Given the description of an element on the screen output the (x, y) to click on. 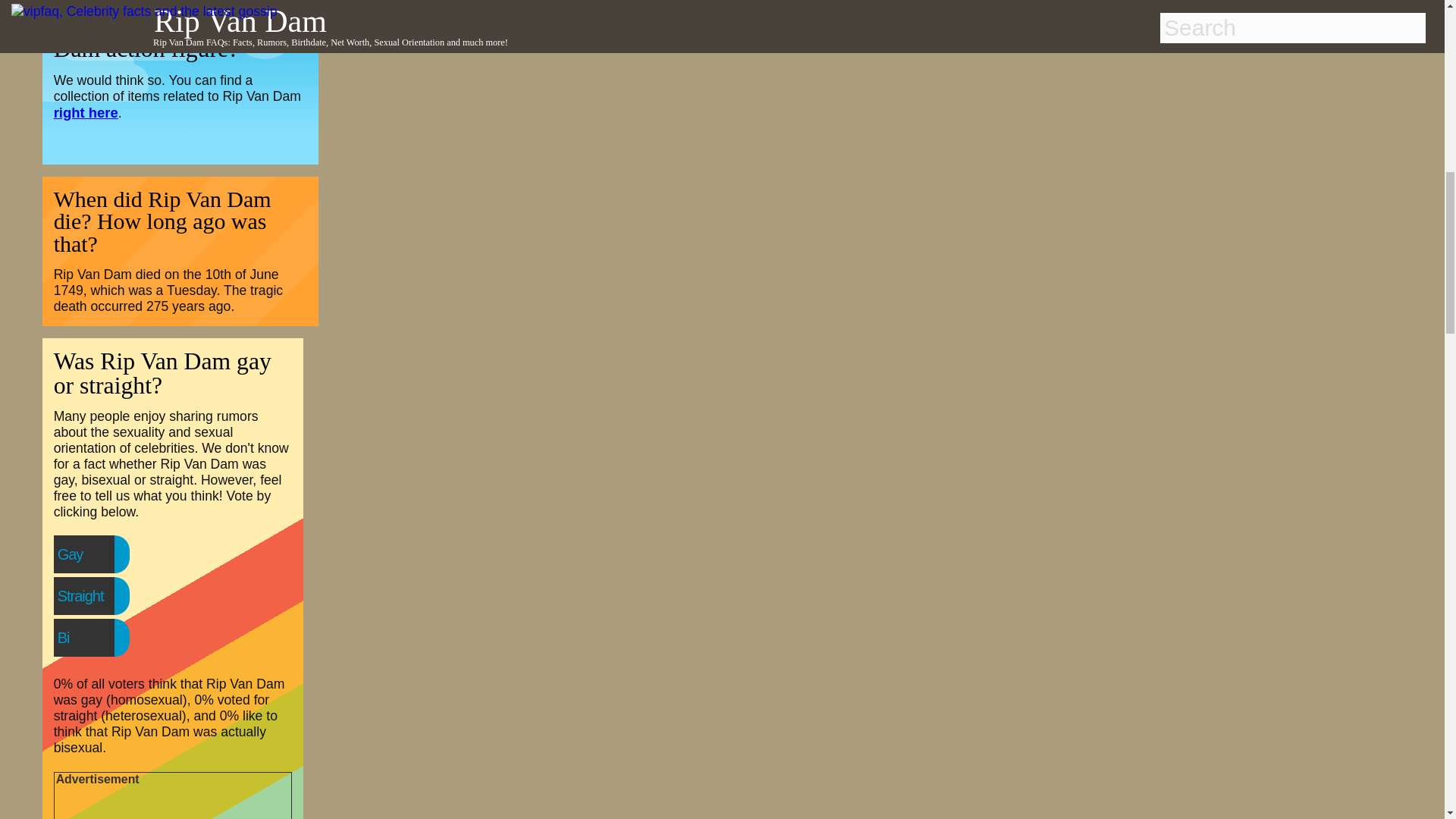
Gay (101, 554)
Bi (94, 637)
Straight (111, 595)
right here (85, 112)
